Given the description of an element on the screen output the (x, y) to click on. 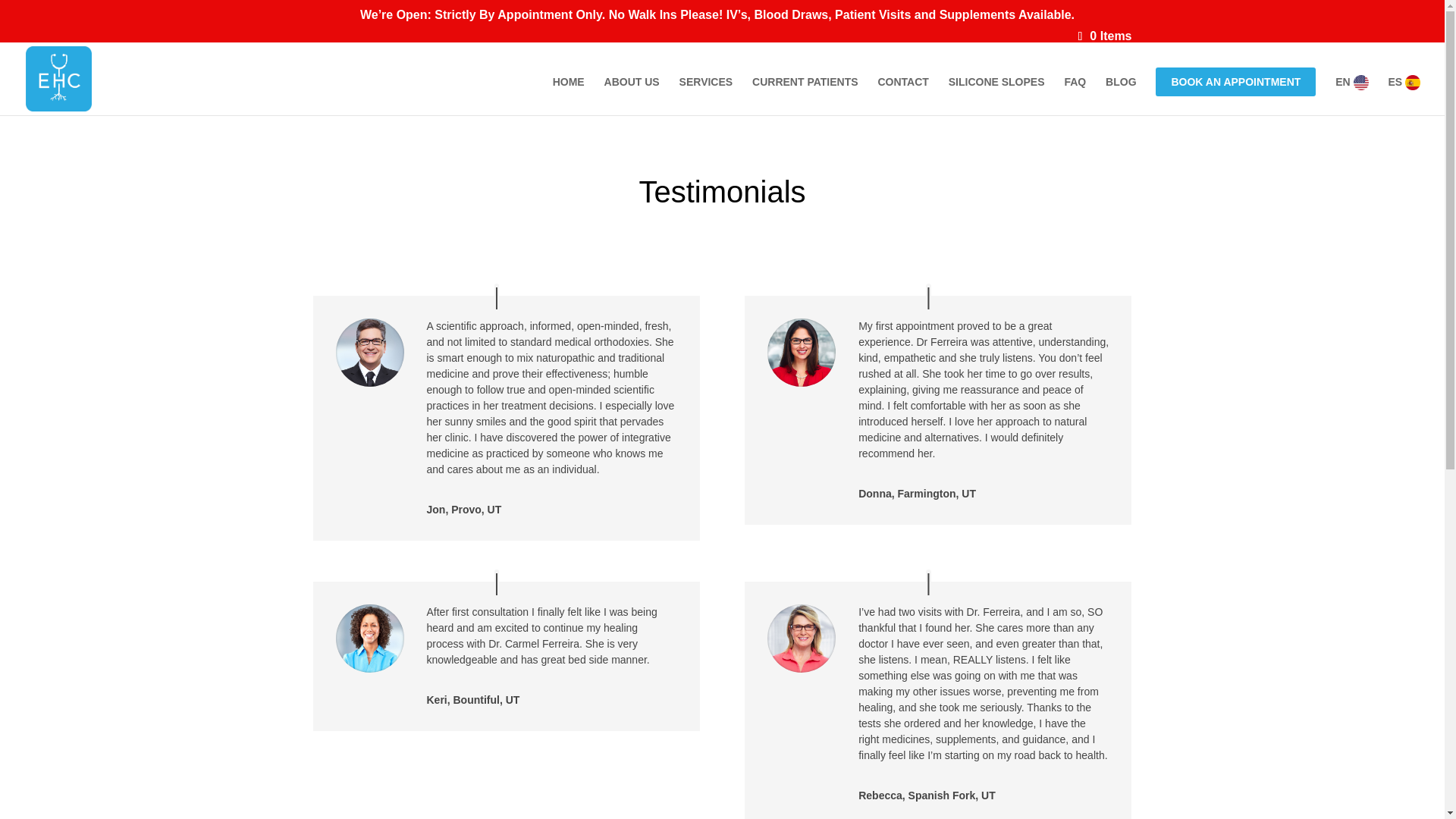
ABOUT US (631, 94)
CURRENT PATIENTS (804, 94)
HOME (569, 94)
SERVICES (706, 94)
CONTACT (902, 94)
SILICONE SLOPES (997, 94)
BOOK AN APPOINTMENT (1236, 81)
0 Items (1105, 35)
